Given the description of an element on the screen output the (x, y) to click on. 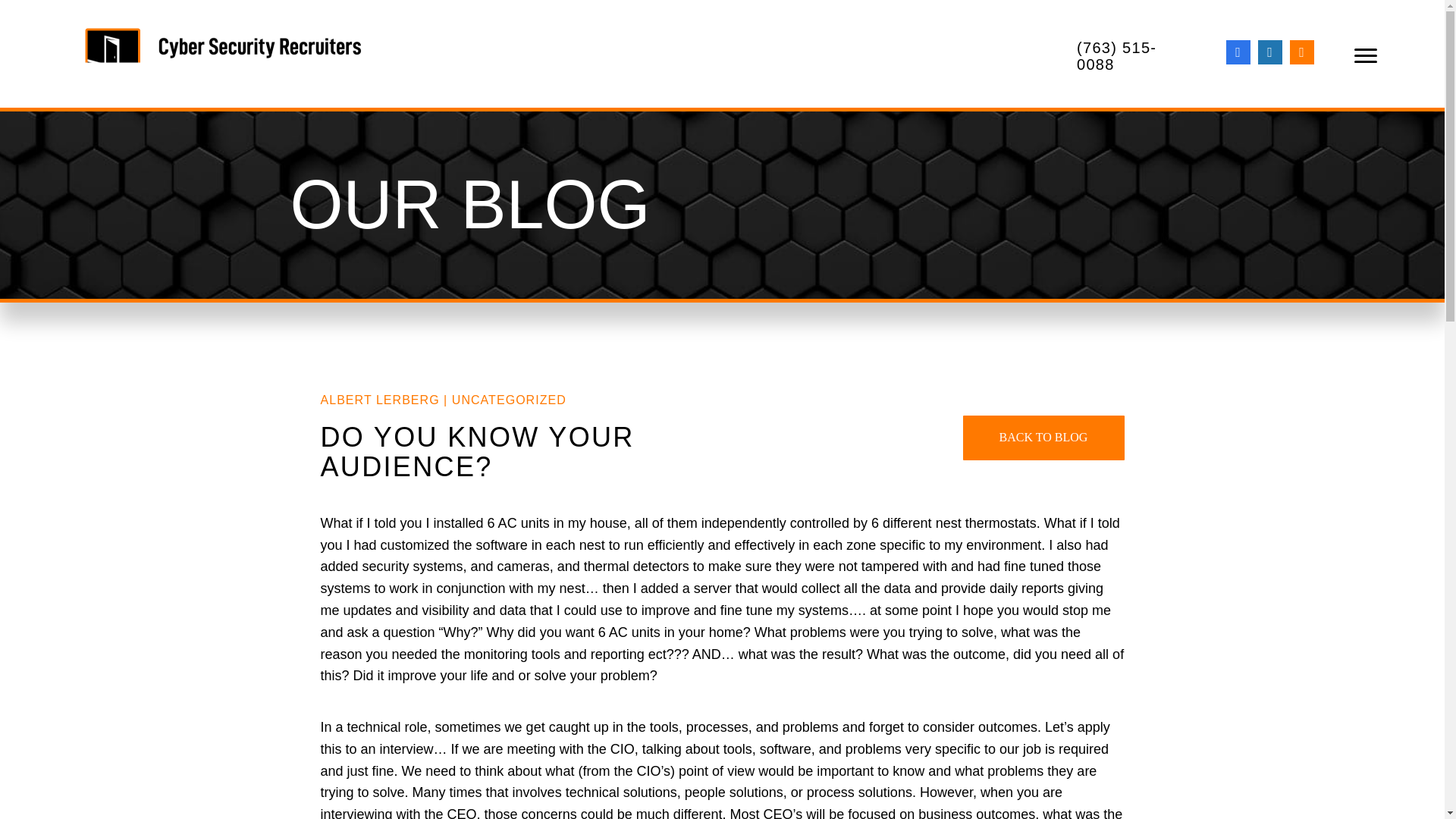
BACK TO BLOG (1043, 437)
CSR Header Logo (223, 55)
UNCATEGORIZED (508, 399)
